Given the description of an element on the screen output the (x, y) to click on. 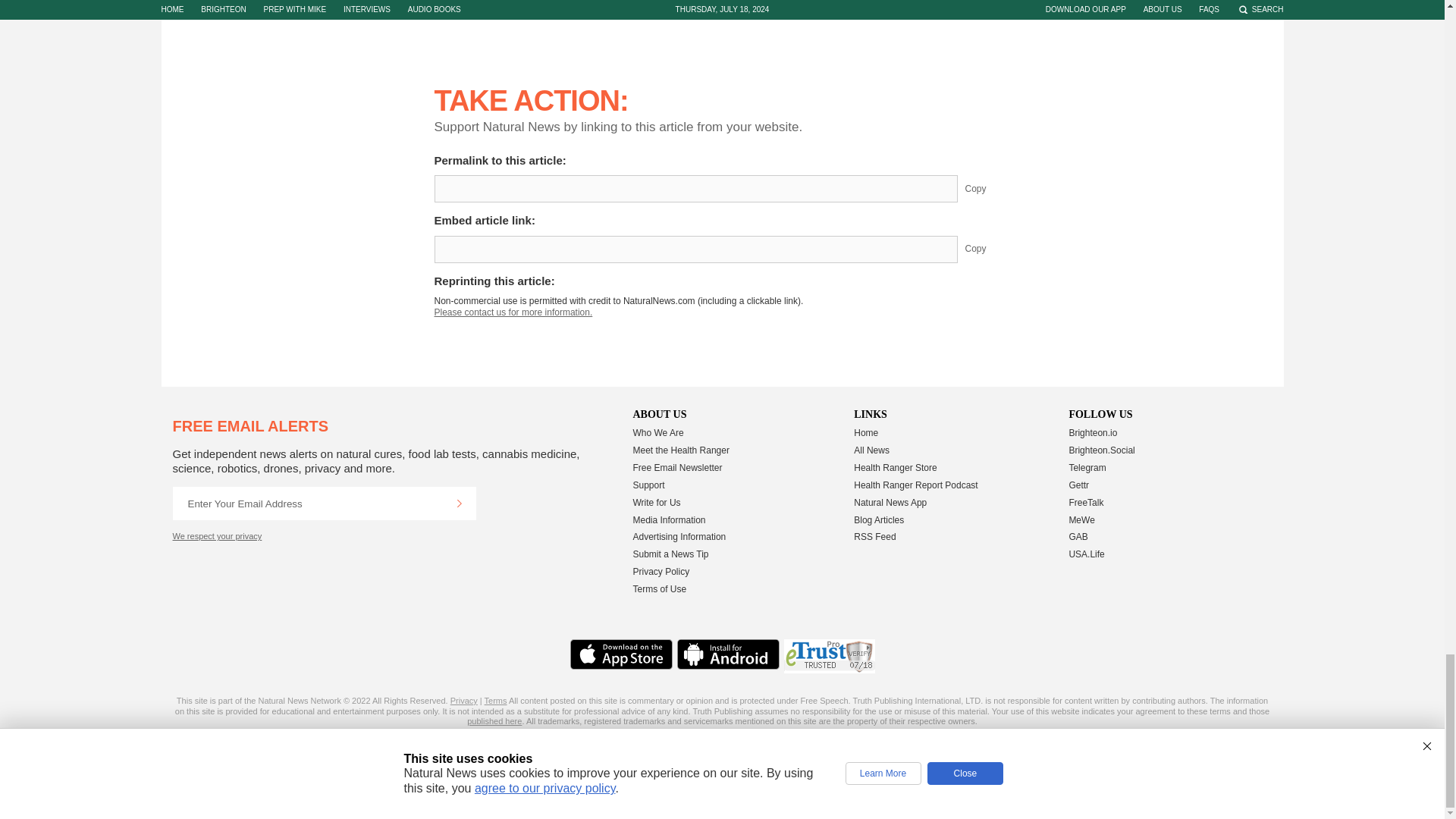
Copy Permalink (986, 188)
Continue (459, 503)
Copy Embed Link (986, 248)
eTrust Pro Certified (829, 656)
